Given the description of an element on the screen output the (x, y) to click on. 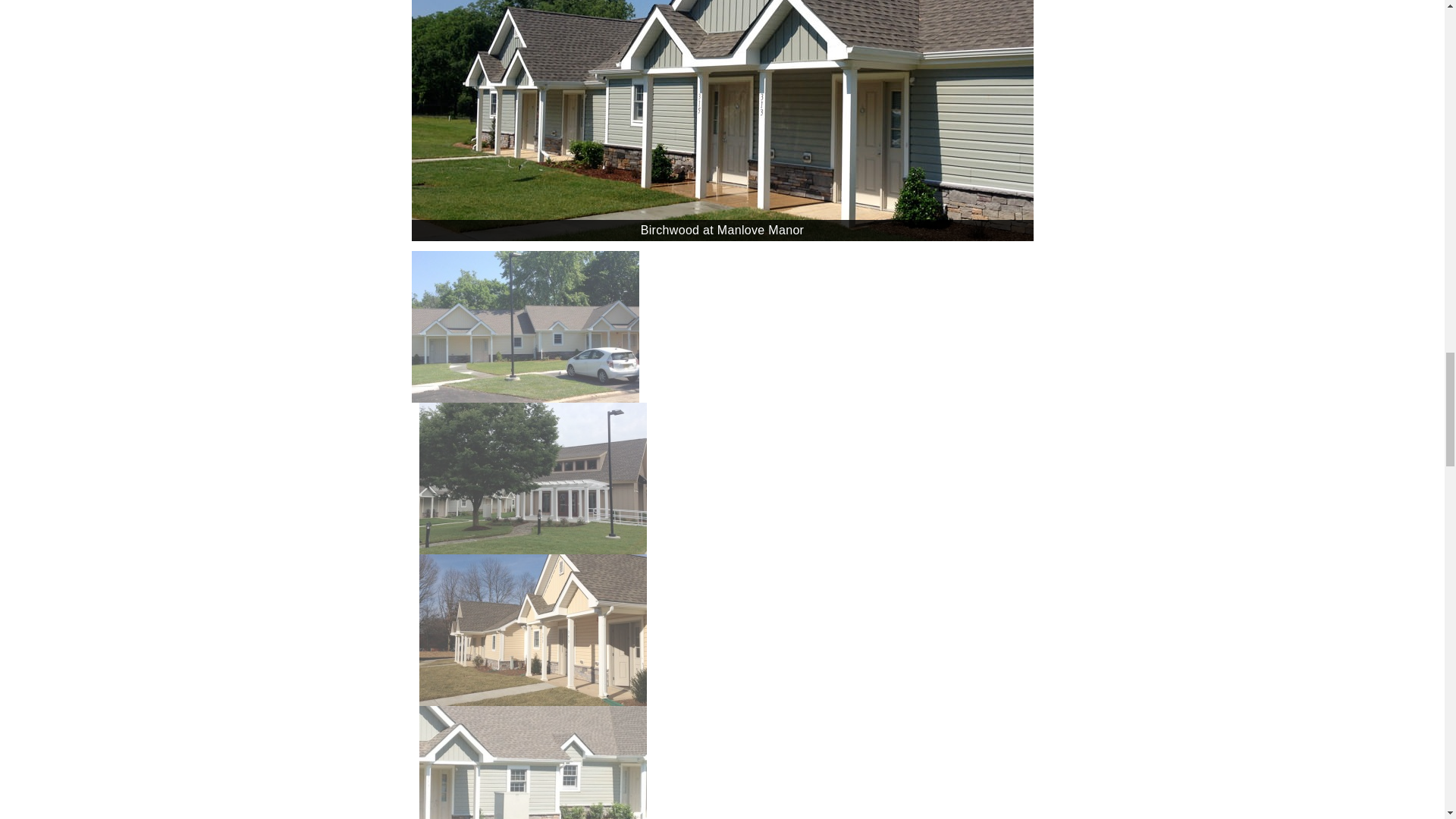
Birchwood at Manlove Manor (725, 478)
Birchwood at Manlove Manor (721, 326)
Birchwood at Manlove Manor (725, 629)
Birchwood at Manlove Manor (725, 762)
